Given the description of an element on the screen output the (x, y) to click on. 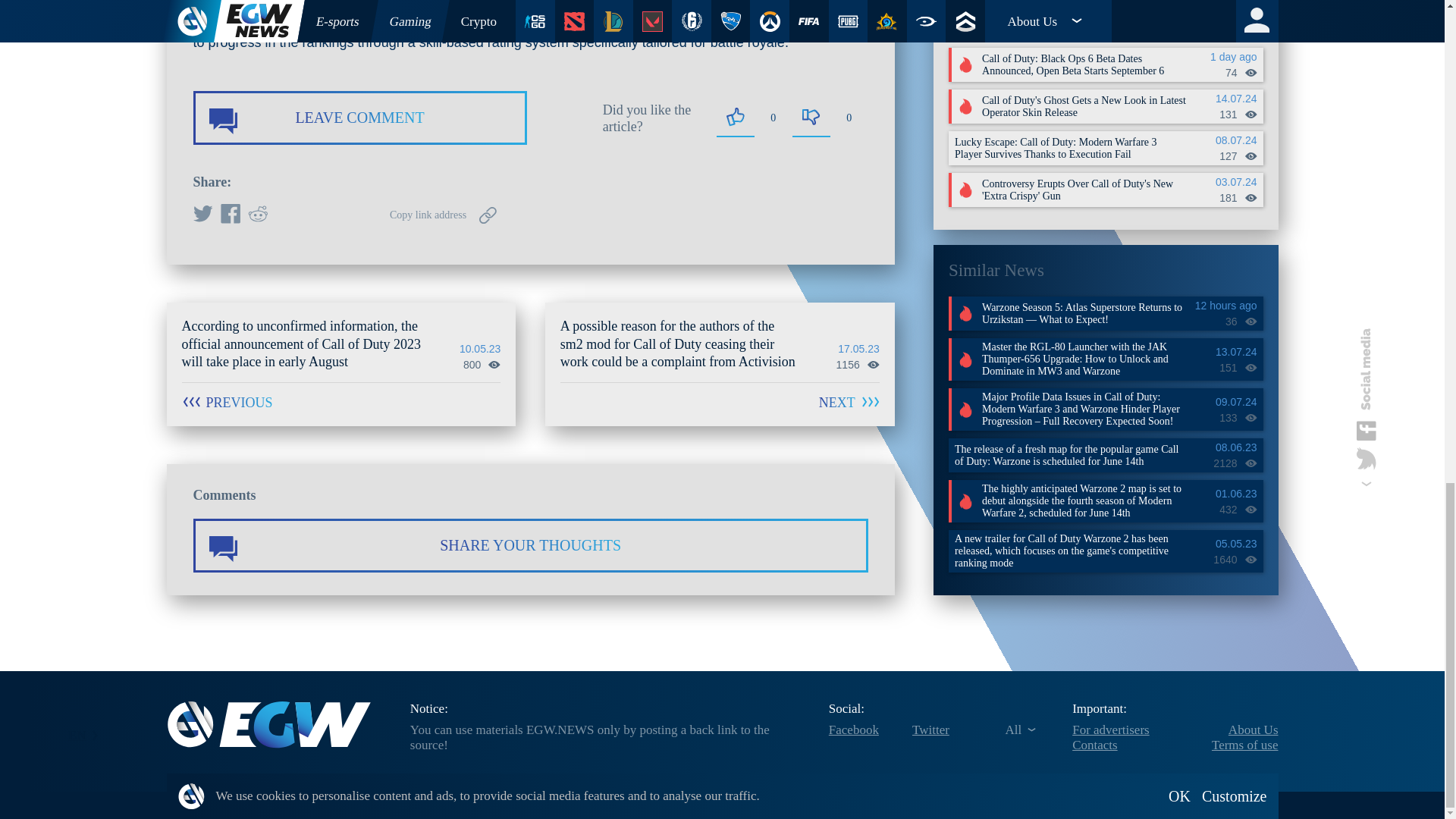
Facebook (229, 214)
Reddit (256, 214)
Twitter (202, 214)
